Given the description of an element on the screen output the (x, y) to click on. 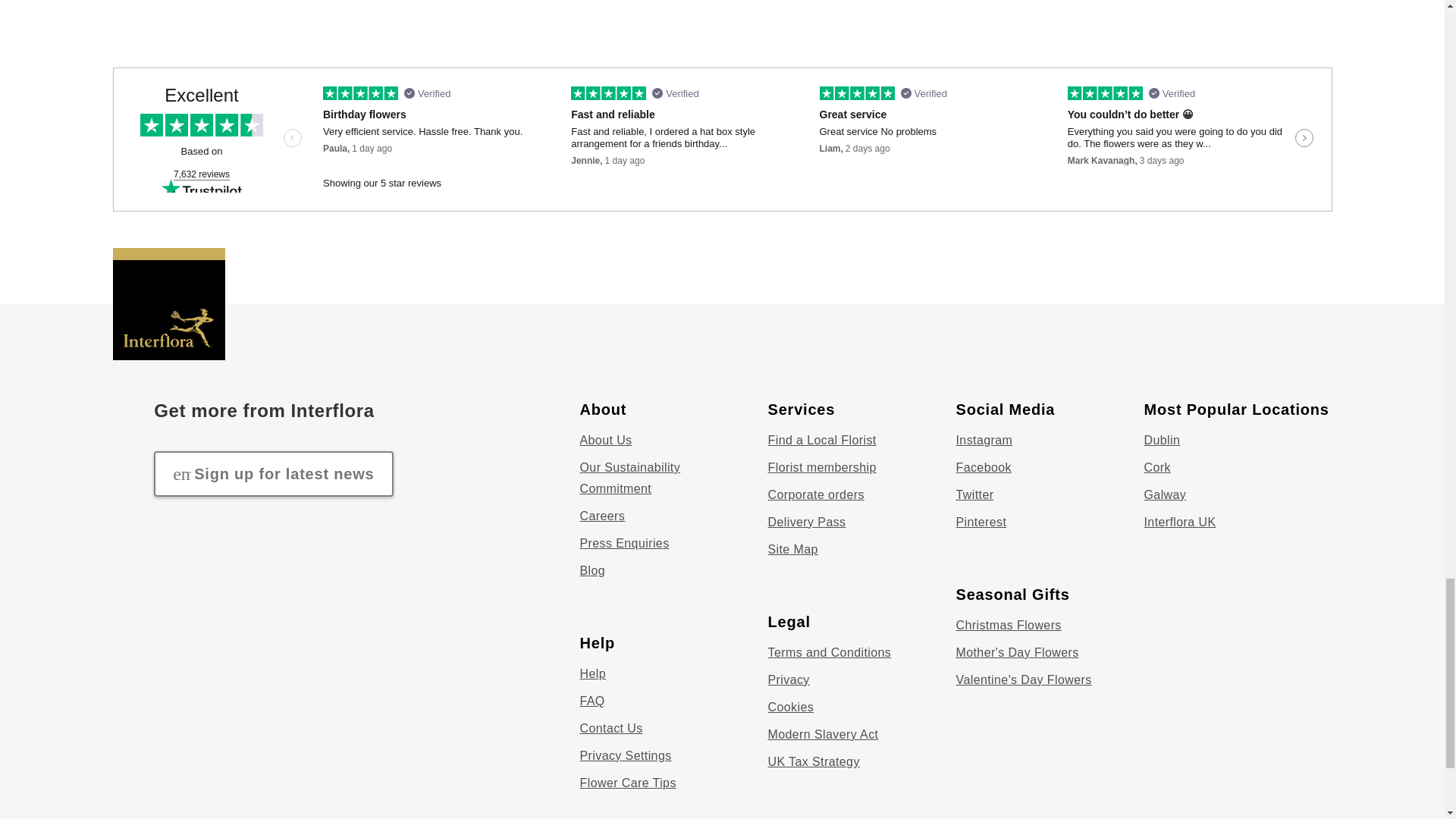
Customer reviews powered by Trustpilot (722, 139)
